Given the description of an element on the screen output the (x, y) to click on. 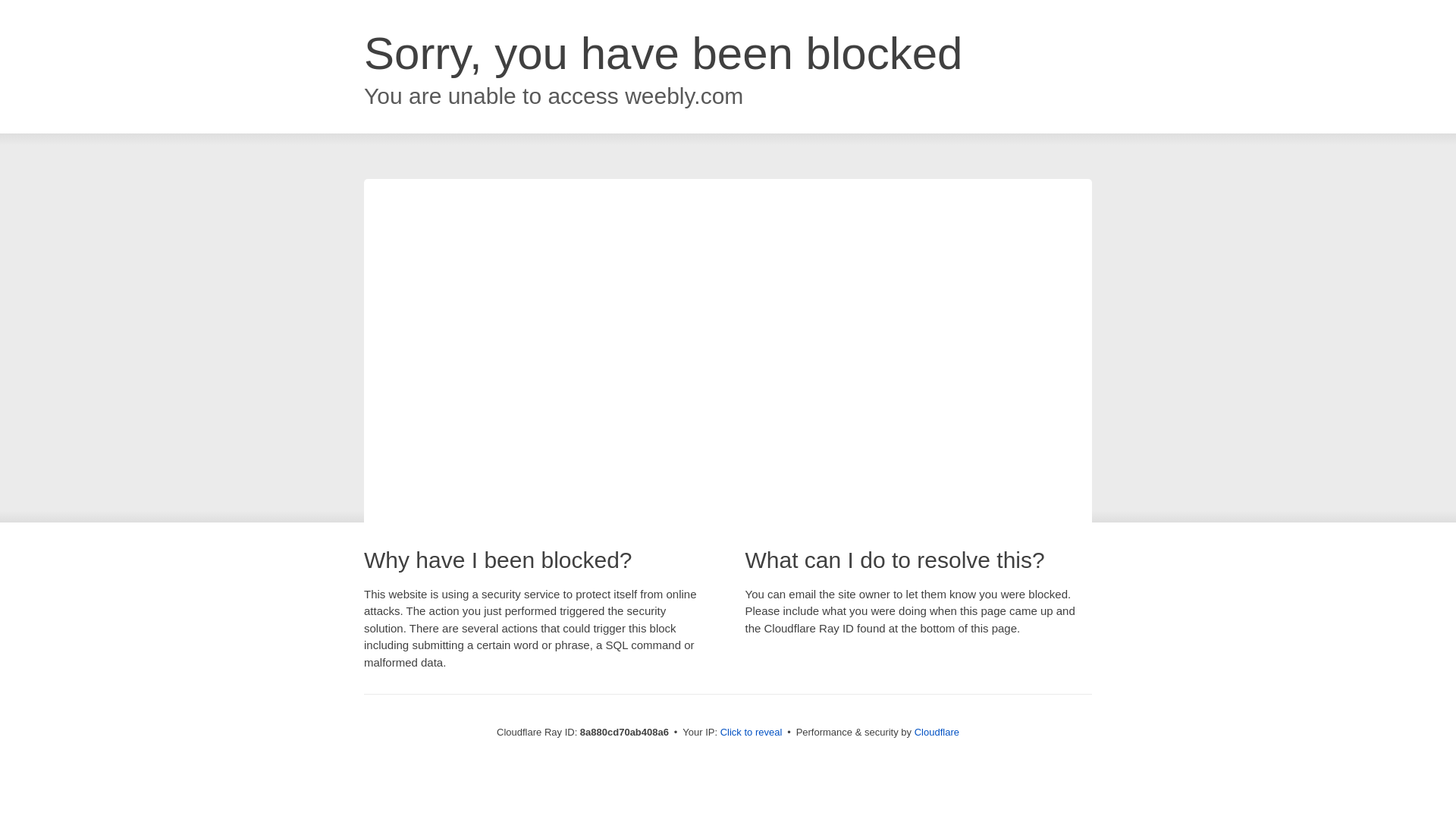
Cloudflare (936, 731)
Click to reveal (751, 732)
